Given the description of an element on the screen output the (x, y) to click on. 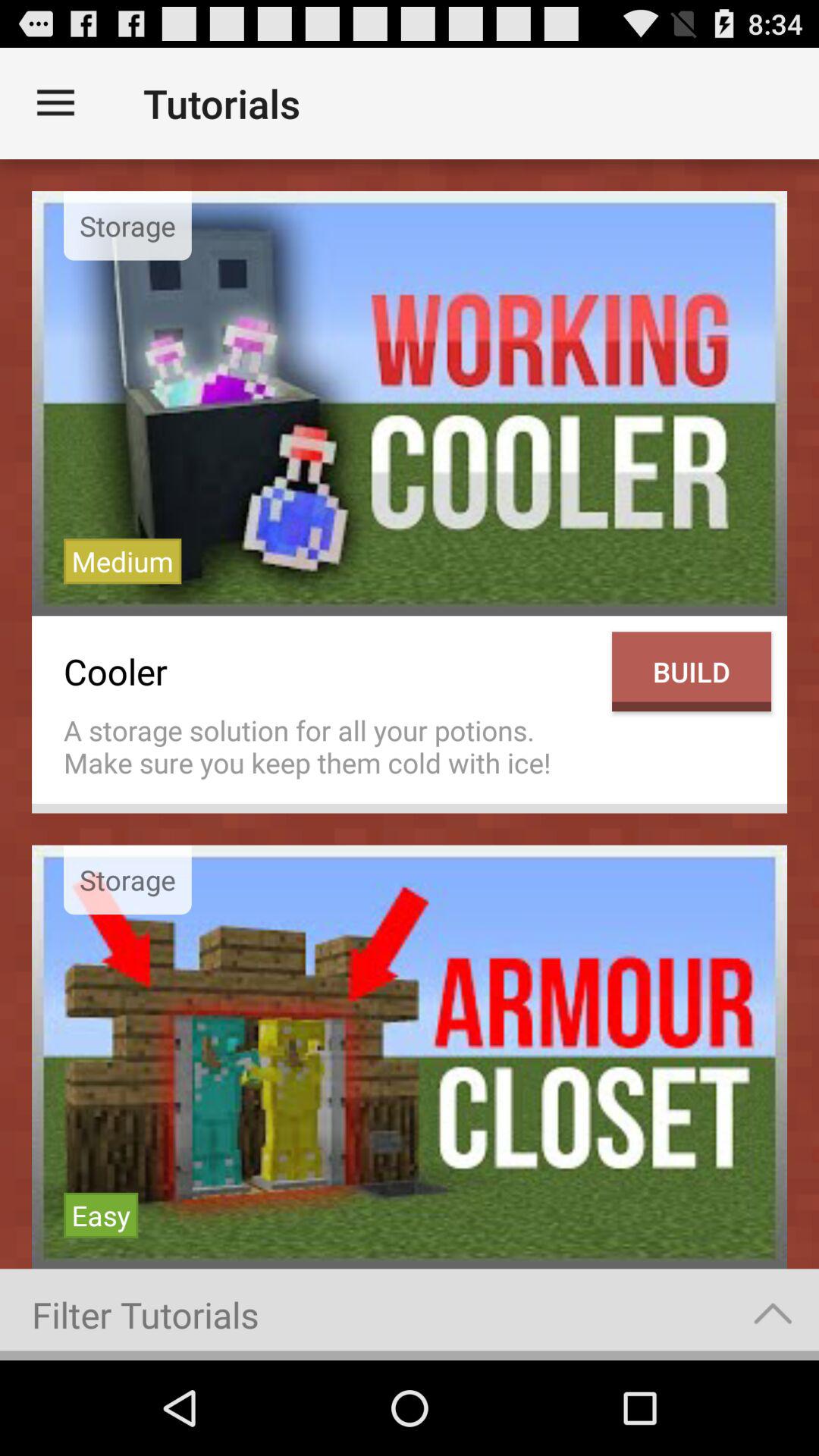
jump until the medium (122, 561)
